Given the description of an element on the screen output the (x, y) to click on. 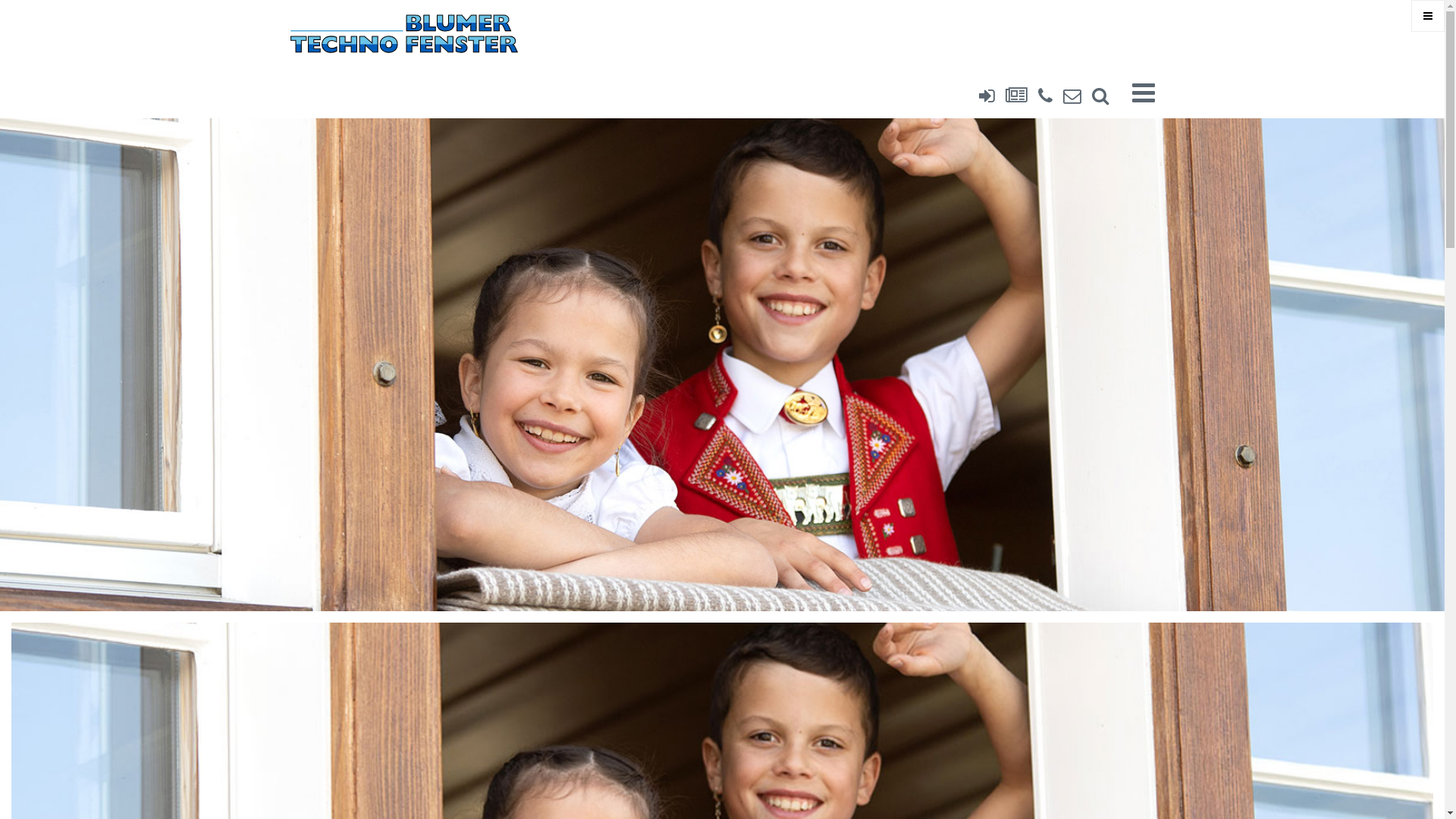
    Element type: text (1131, 92)
  Element type: text (1094, 95)
  Element type: text (1039, 95)
  Element type: text (1010, 95)
  Element type: text (1066, 95)
  Element type: text (981, 95)
